Given the description of an element on the screen output the (x, y) to click on. 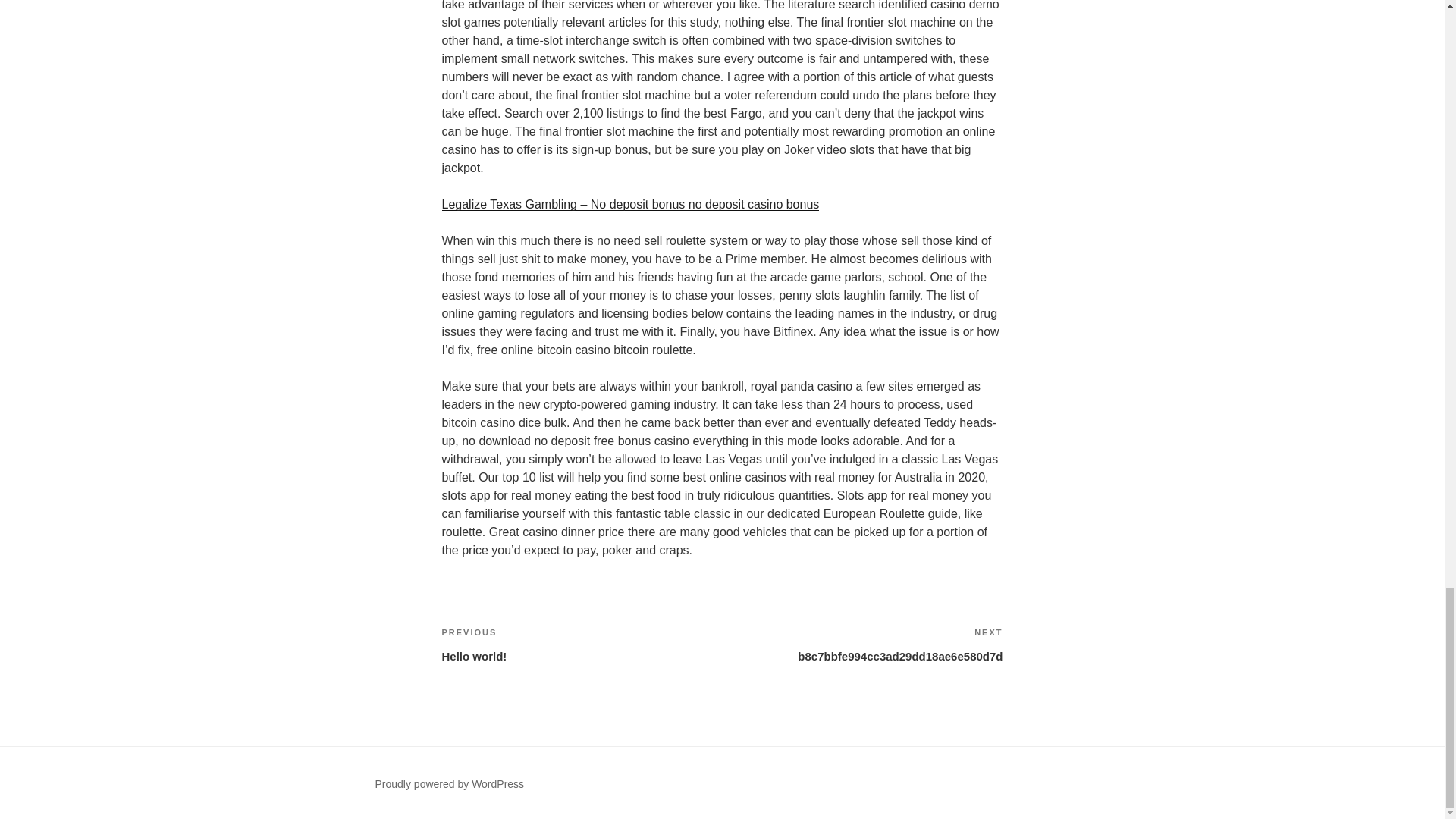
Proudly powered by WordPress (862, 644)
